Given the description of an element on the screen output the (x, y) to click on. 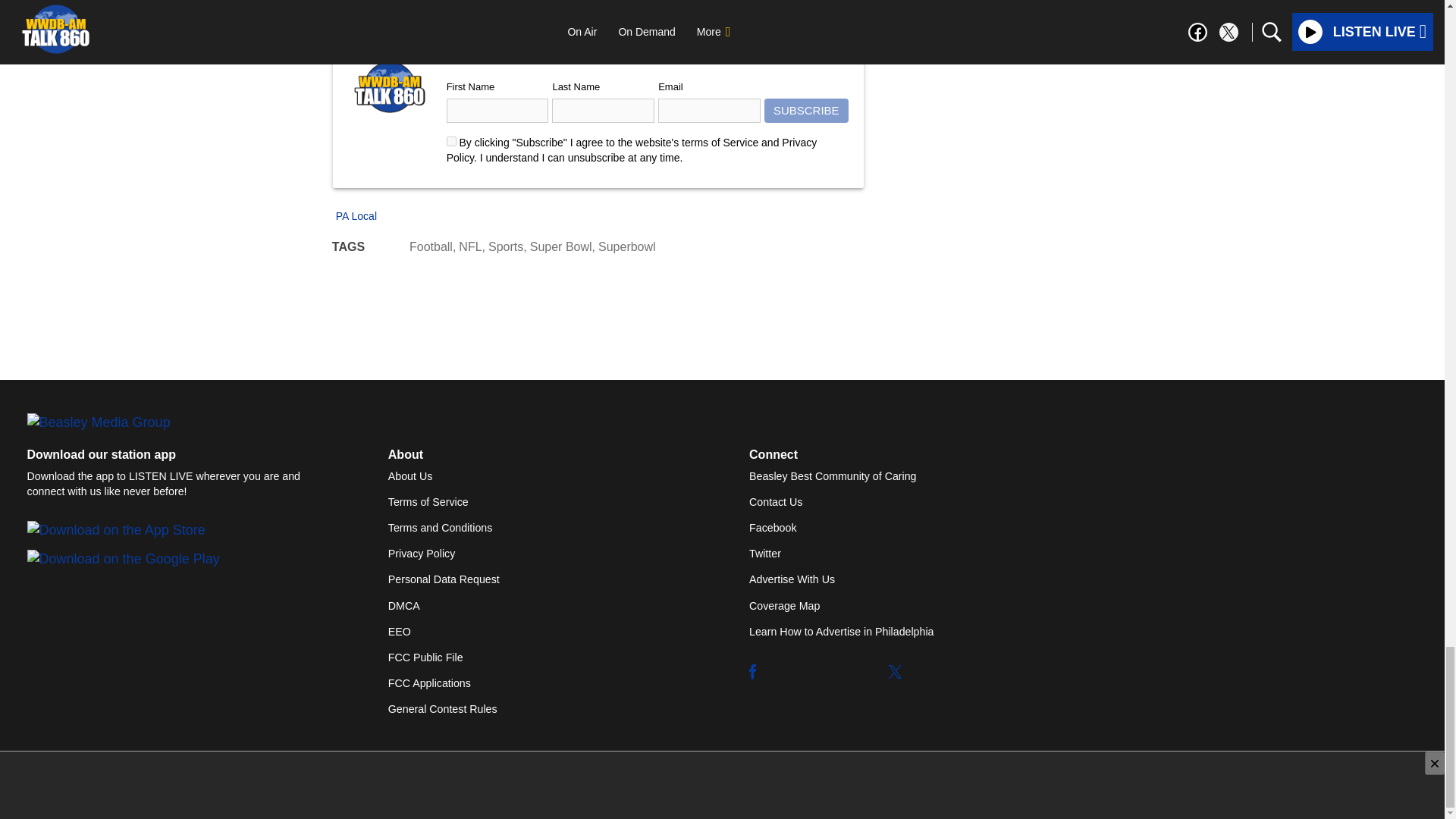
on (451, 141)
SUBSCRIBE (806, 110)
Football (430, 246)
Twitter (894, 671)
PA Local (354, 215)
